Given the description of an element on the screen output the (x, y) to click on. 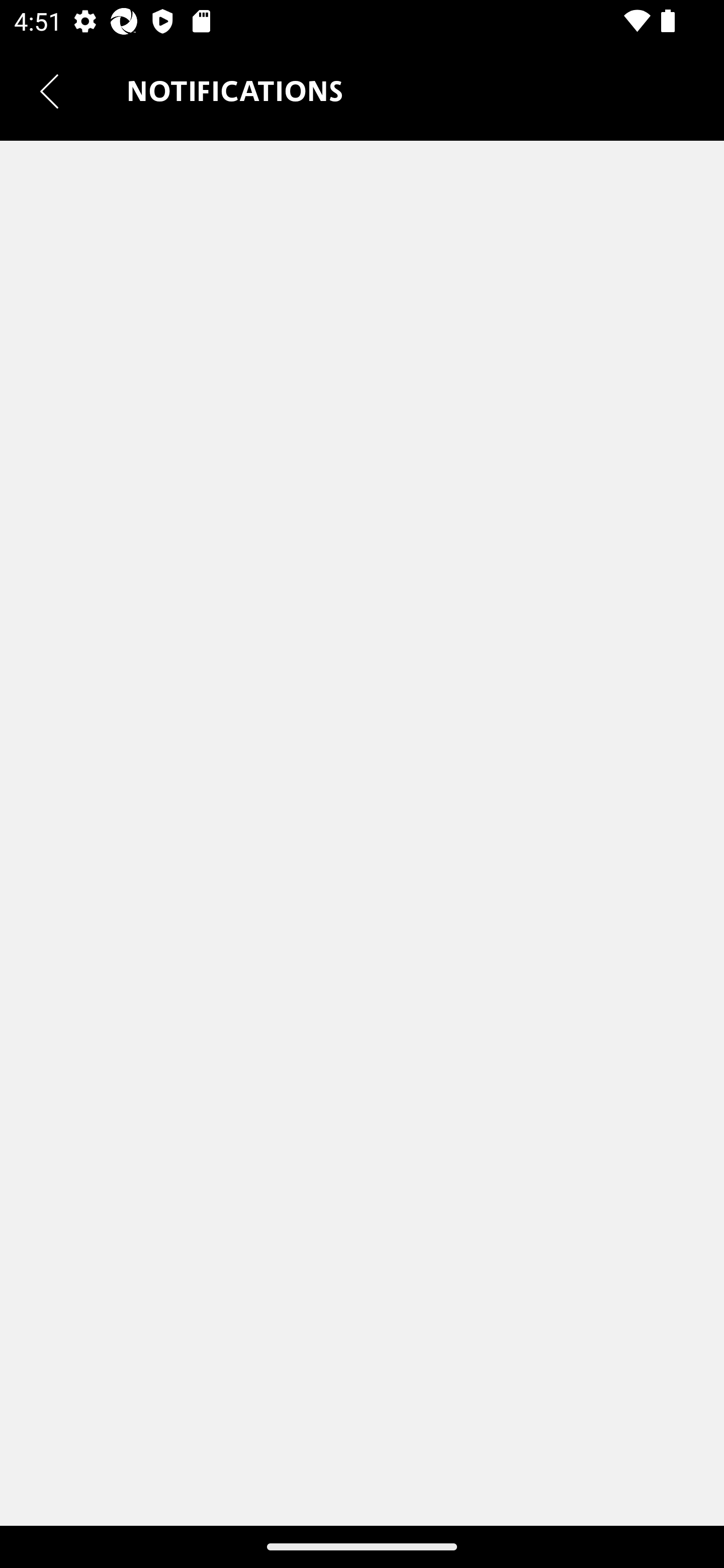
Navigate up (49, 91)
